Given the description of an element on the screen output the (x, y) to click on. 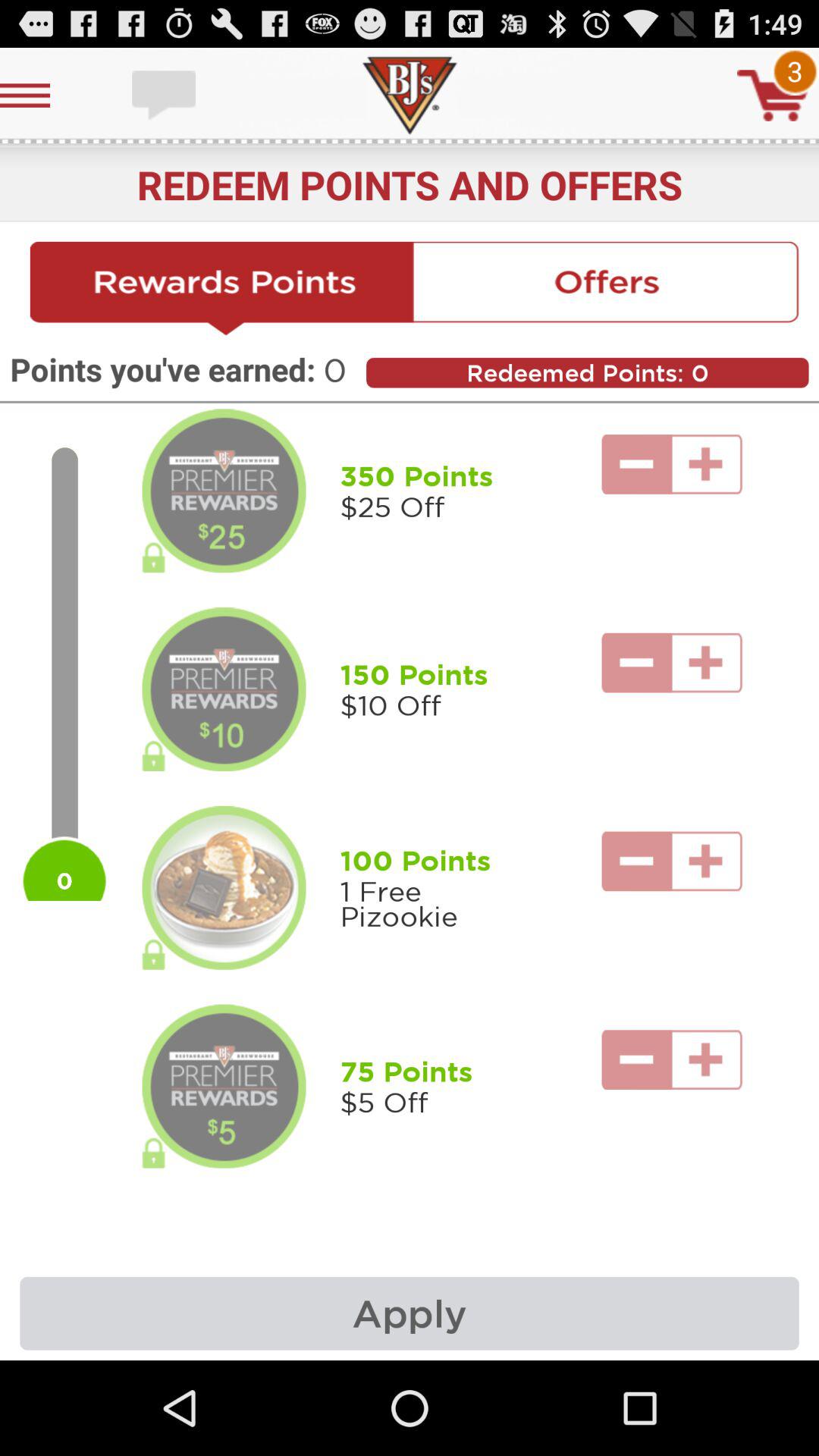
view reward points (222, 289)
